Given the description of an element on the screen output the (x, y) to click on. 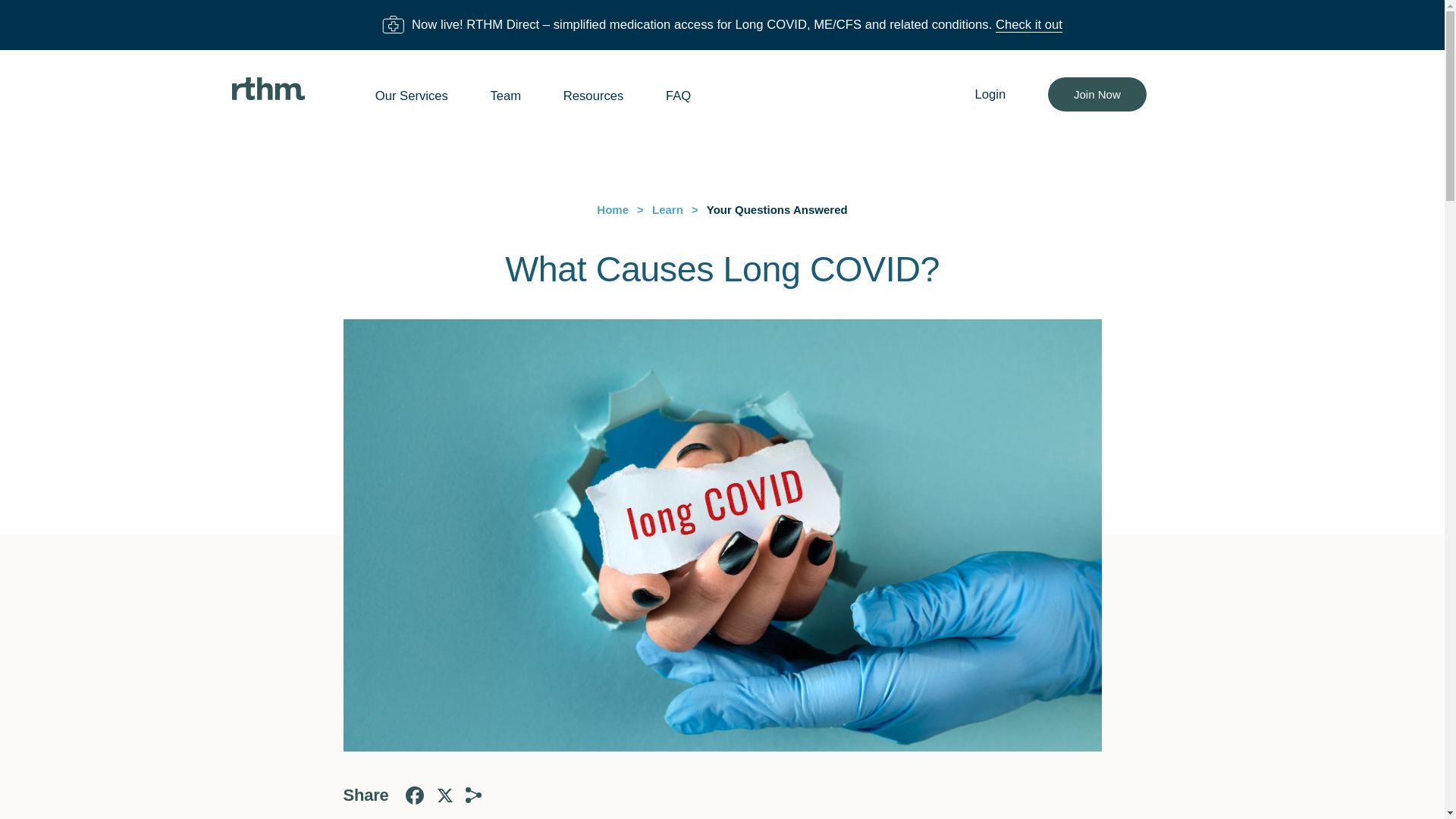
Facebook (413, 795)
Check it out (1028, 24)
Our Services (411, 95)
FAQ (677, 95)
Team (505, 95)
Join Now (1097, 93)
Login (990, 93)
Learn (667, 209)
X (444, 795)
Home (612, 209)
